Given the description of an element on the screen output the (x, y) to click on. 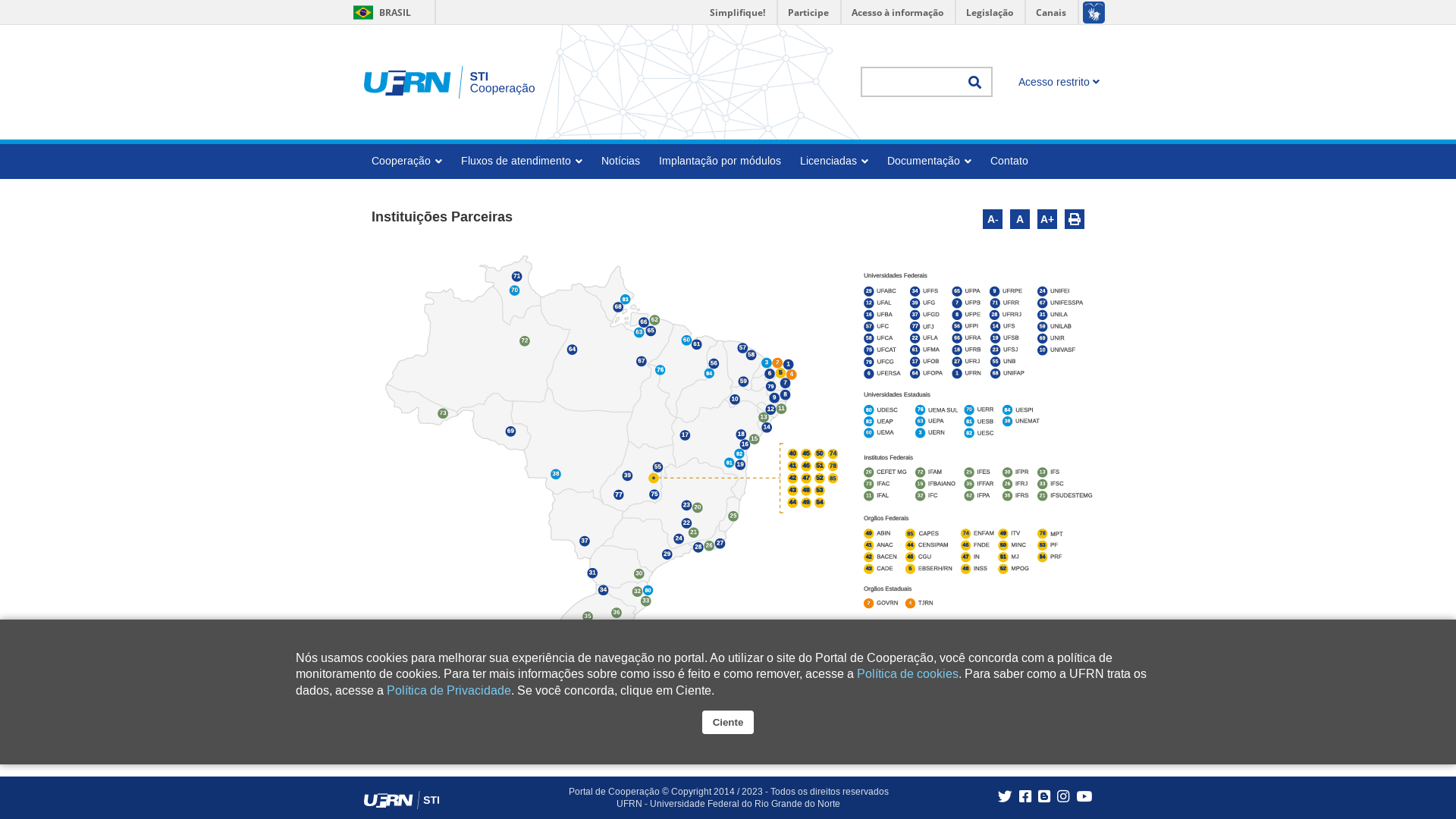
Acesso restrito Element type: text (1058, 83)
BRASIL Element type: text (379, 12)
Ciente Element type: text (728, 722)
Twitter Element type: hover (1003, 796)
Contato Element type: text (1014, 160)
imprimir Element type: hover (1074, 219)
UFRN - Universidade Federal do Rio Grande do Norte Element type: text (728, 803)
Blog Element type: hover (1042, 796)
Licenciadas Element type: text (839, 160)
Youtube Element type: hover (1082, 796)
Fluxos de atendimento Element type: text (527, 160)
Aumentar fonte Element type: hover (1047, 219)
Voltar para fonte inicial Element type: hover (1019, 219)
Buscar Element type: hover (974, 81)
Instagram Element type: hover (1062, 796)
Facebook Element type: hover (1023, 796)
Diminuir fonte Element type: hover (992, 219)
